Given the description of an element on the screen output the (x, y) to click on. 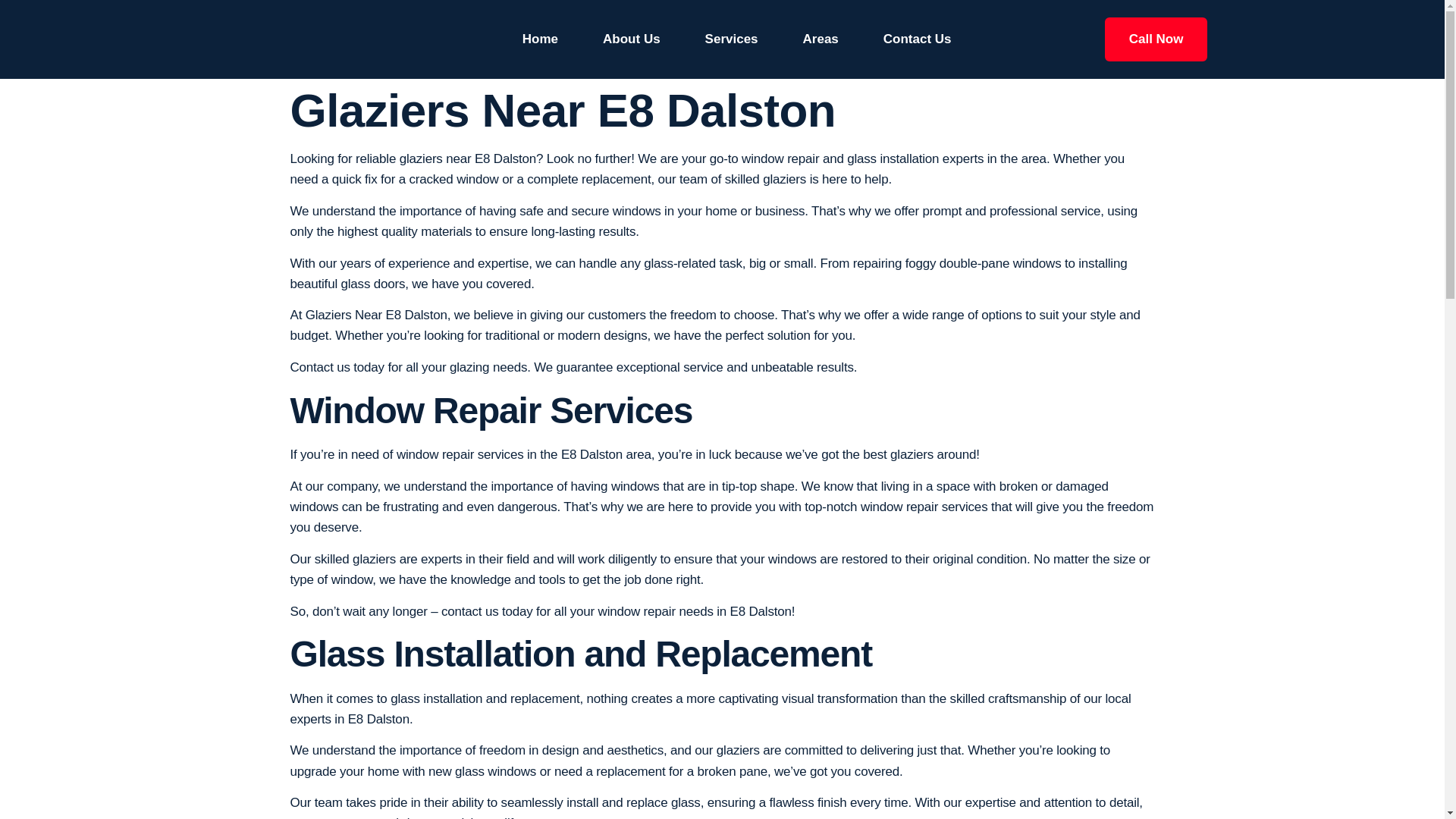
Home (540, 39)
Areas (821, 39)
About Us (631, 39)
Services (731, 39)
